Given the description of an element on the screen output the (x, y) to click on. 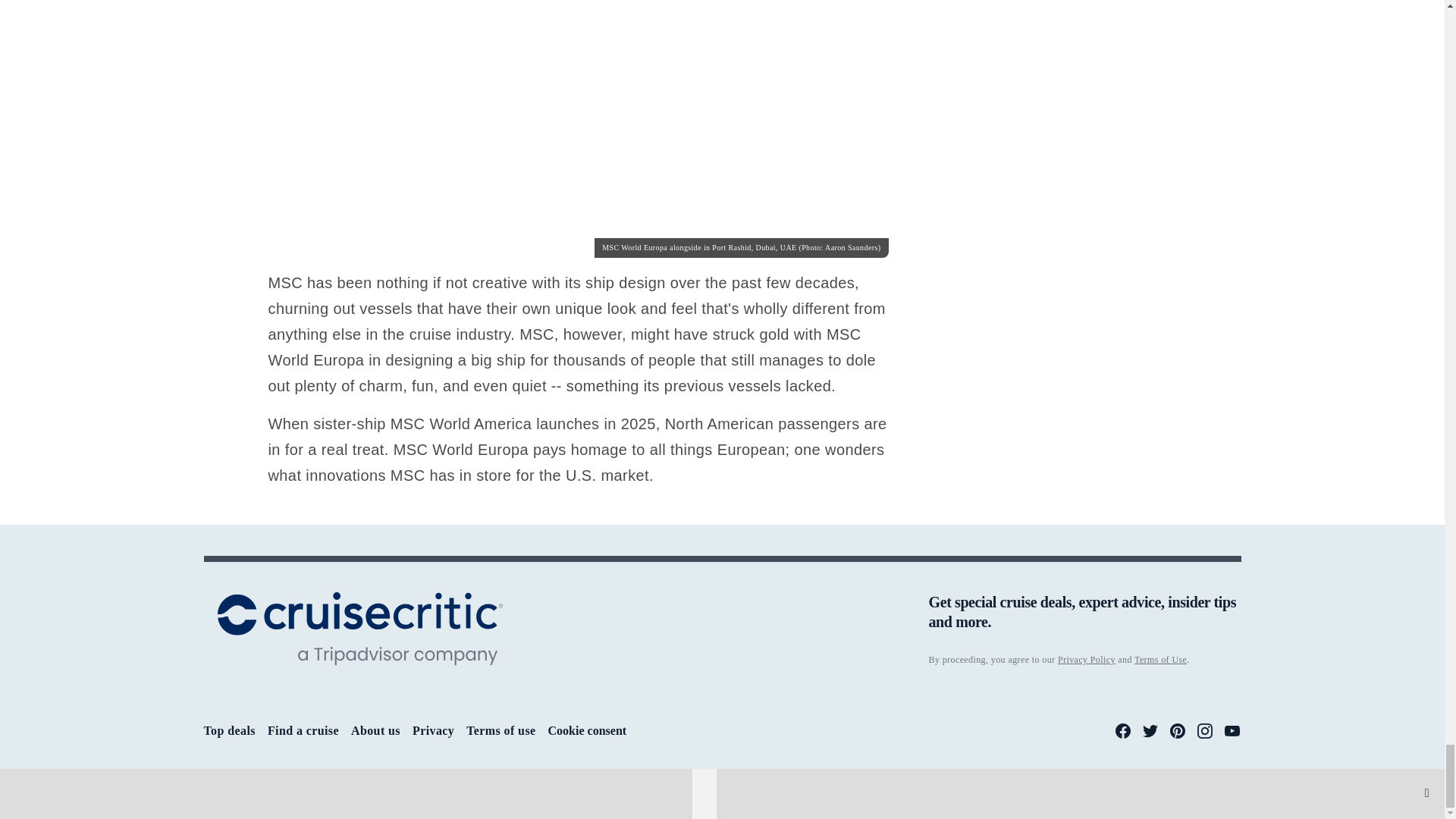
Privacy Policy (1086, 659)
Terms of Use (1160, 659)
Find a cruise (303, 730)
Top deals (228, 730)
About us (375, 730)
Privacy (433, 730)
Terms of use (500, 730)
Cookie consent (587, 730)
